Given the description of an element on the screen output the (x, y) to click on. 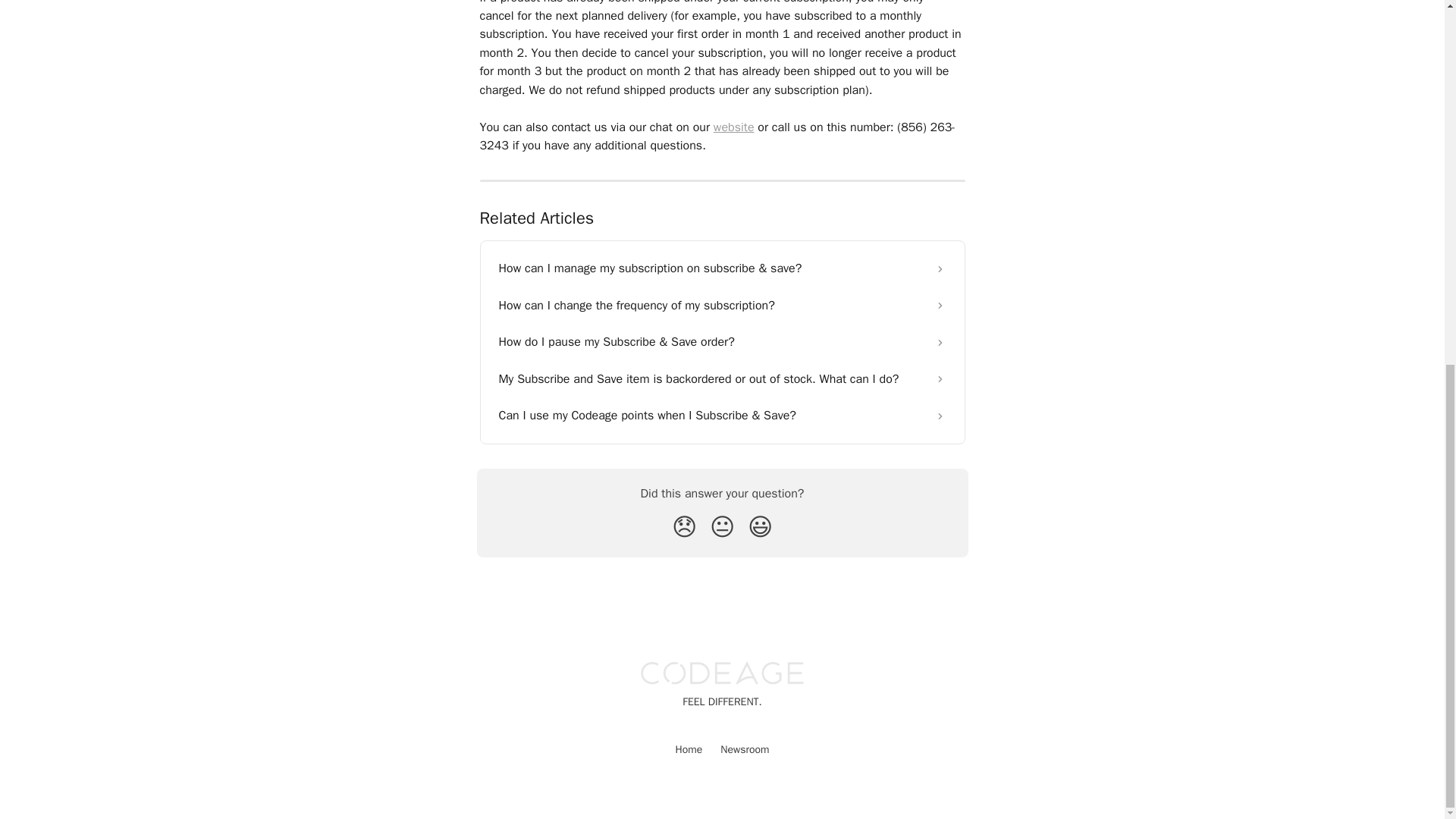
Newsroom (744, 748)
How can I change the frequency of my subscription? (722, 305)
website (733, 127)
Home (688, 748)
